Given the description of an element on the screen output the (x, y) to click on. 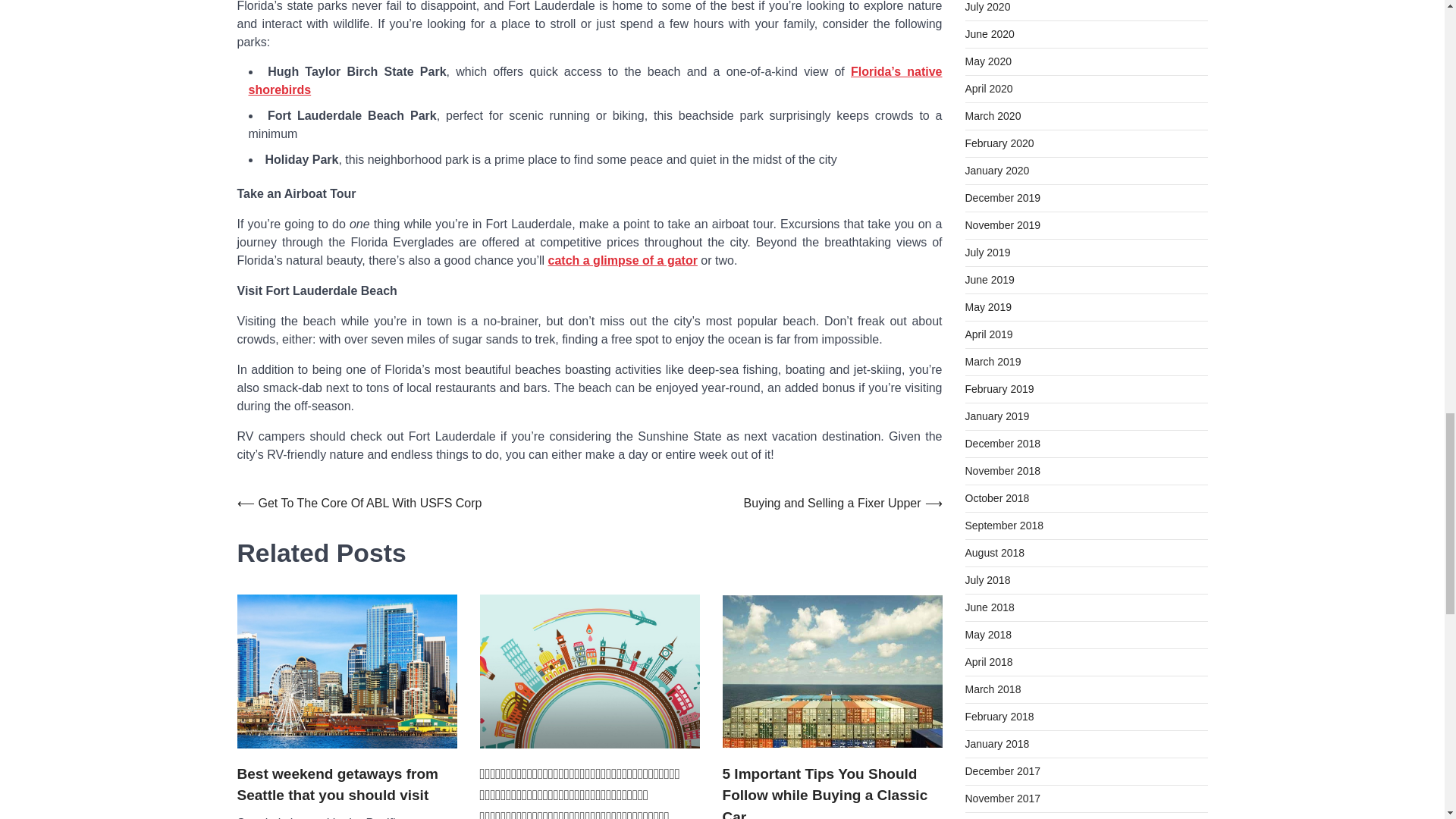
Best weekend getaways from Seattle that you should visit (346, 784)
catch a glimpse of a gator (622, 259)
